Given the description of an element on the screen output the (x, y) to click on. 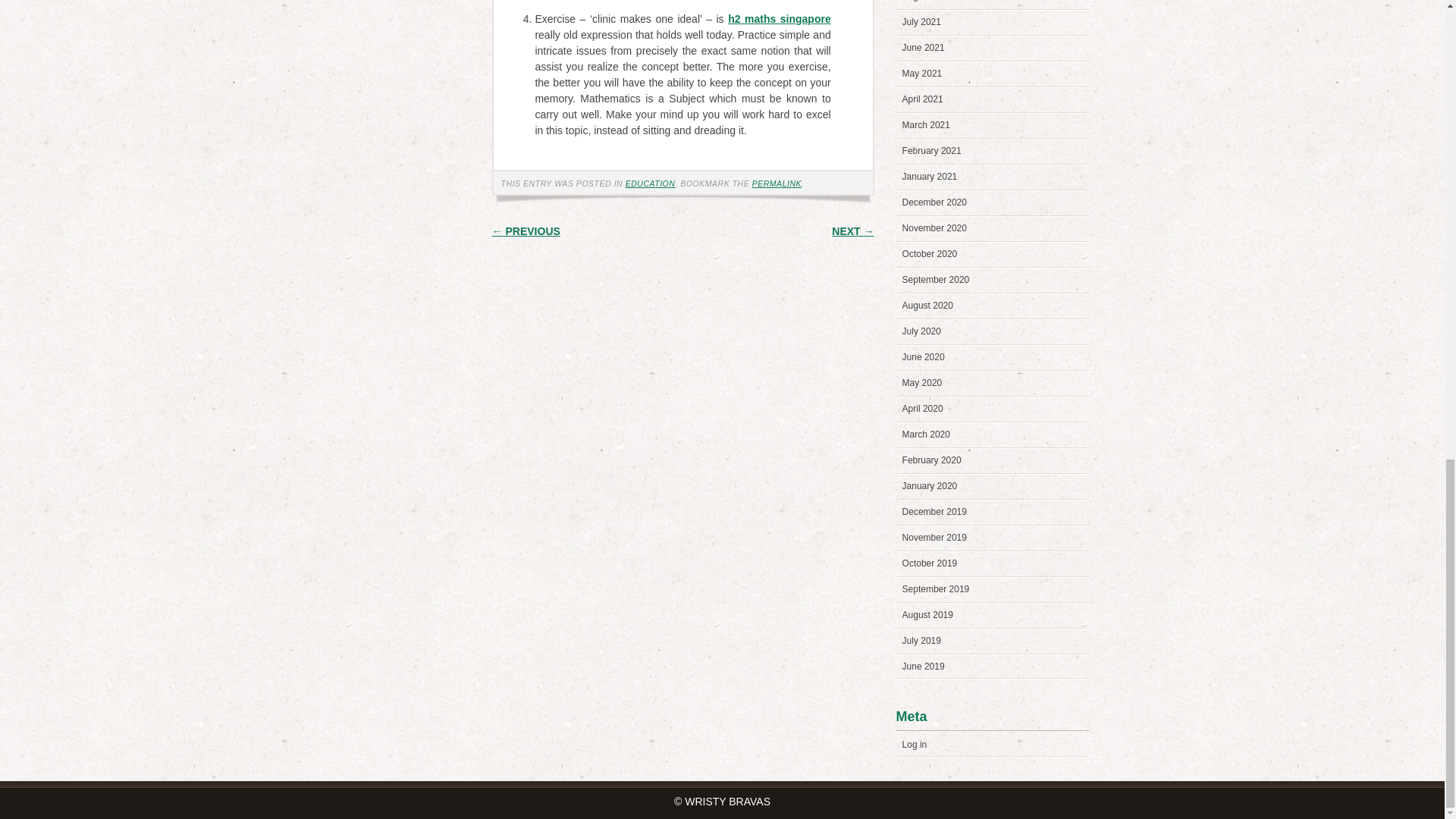
PERMALINK (777, 183)
EDUCATION (650, 183)
h2 maths singapore (779, 19)
Permalink to The way to be successful in mathematics (777, 183)
